Given the description of an element on the screen output the (x, y) to click on. 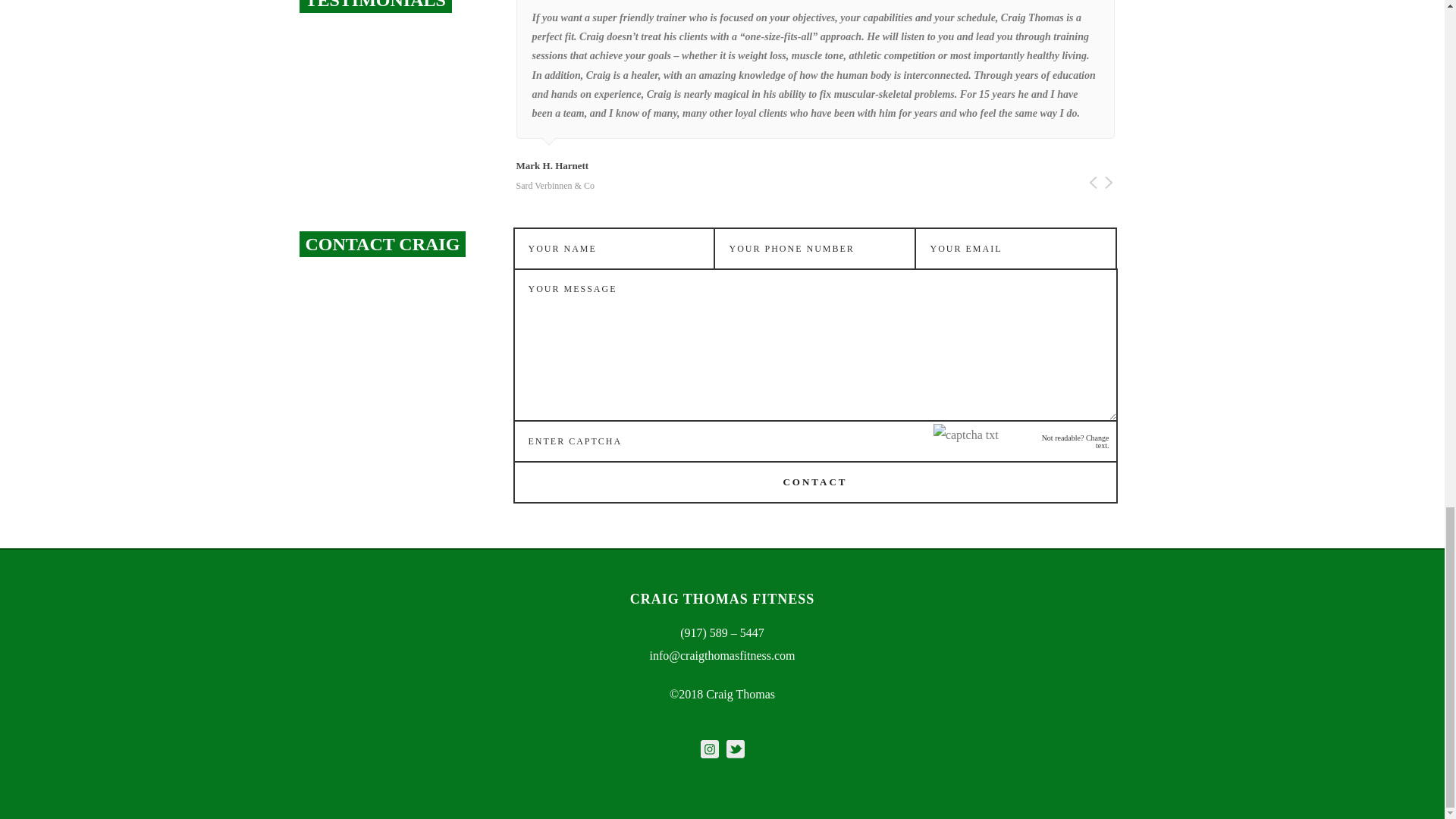
Not readable? Change text. (1070, 441)
Follow Us on instagram (709, 750)
Follow Us on twitter (735, 750)
CONTACT (814, 481)
